Given the description of an element on the screen output the (x, y) to click on. 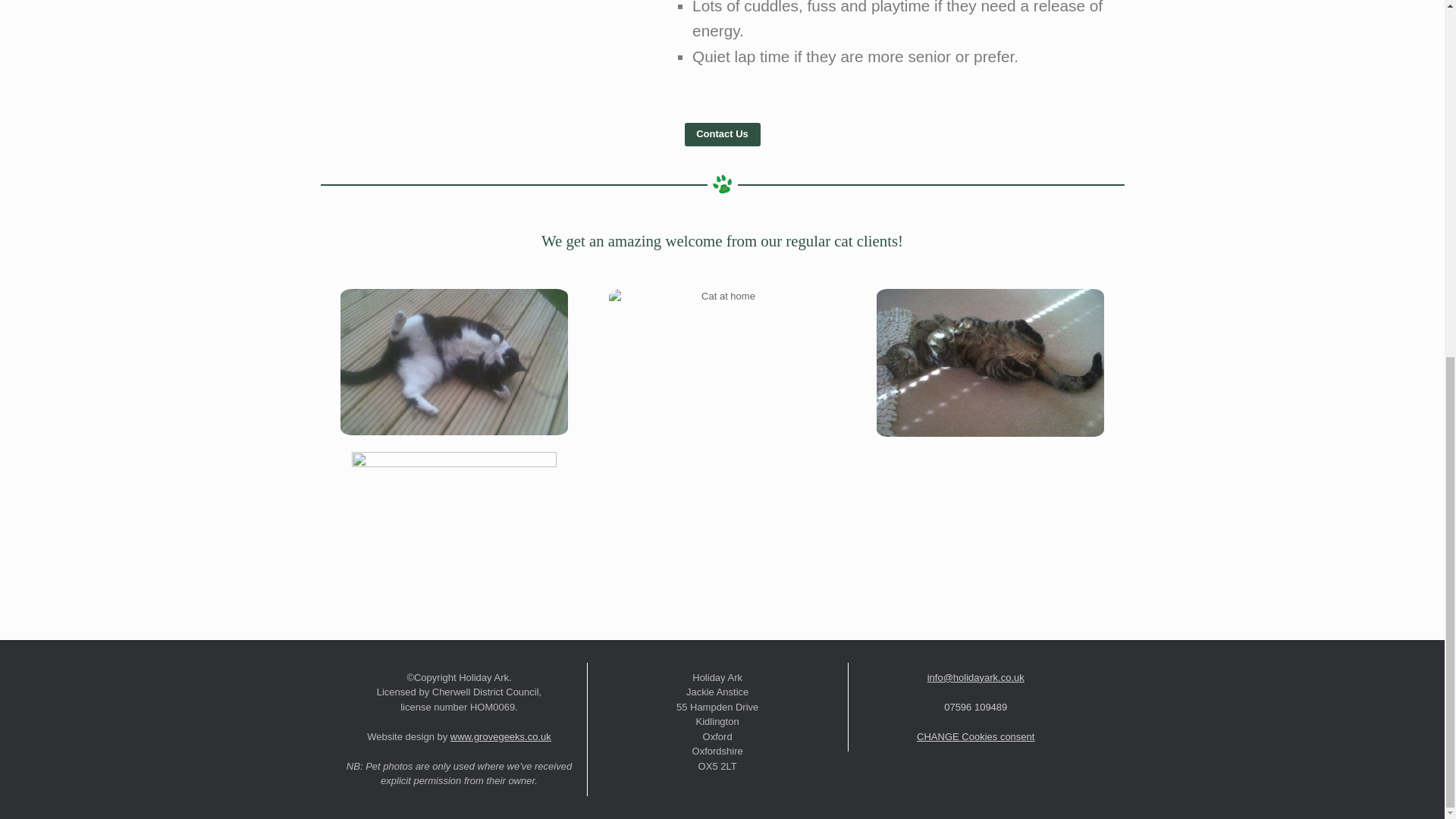
07596 109489 (975, 706)
Open the Contact Us page (722, 134)
Call Holiday Ark (975, 706)
Check and change your cookies choices (975, 736)
Contact Us (722, 134)
www.grovegeeks.co.uk (500, 736)
CHANGE Cookies consent (975, 736)
Create an email to Holiday Ark (976, 677)
Visit the Grove Geeks website (500, 736)
